Given the description of an element on the screen output the (x, y) to click on. 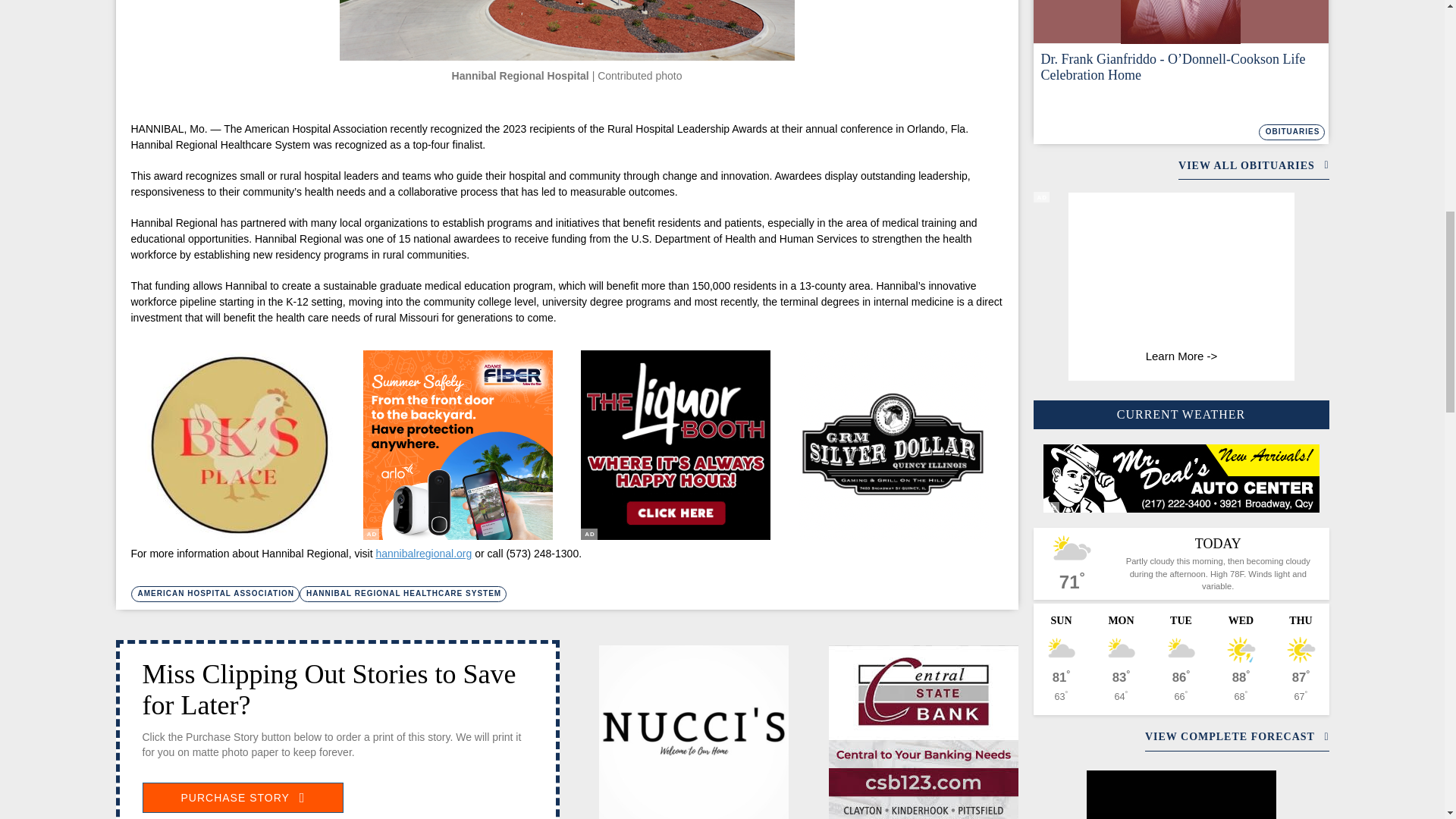
Hannibal Regional Hospital (566, 30)
